Given the description of an element on the screen output the (x, y) to click on. 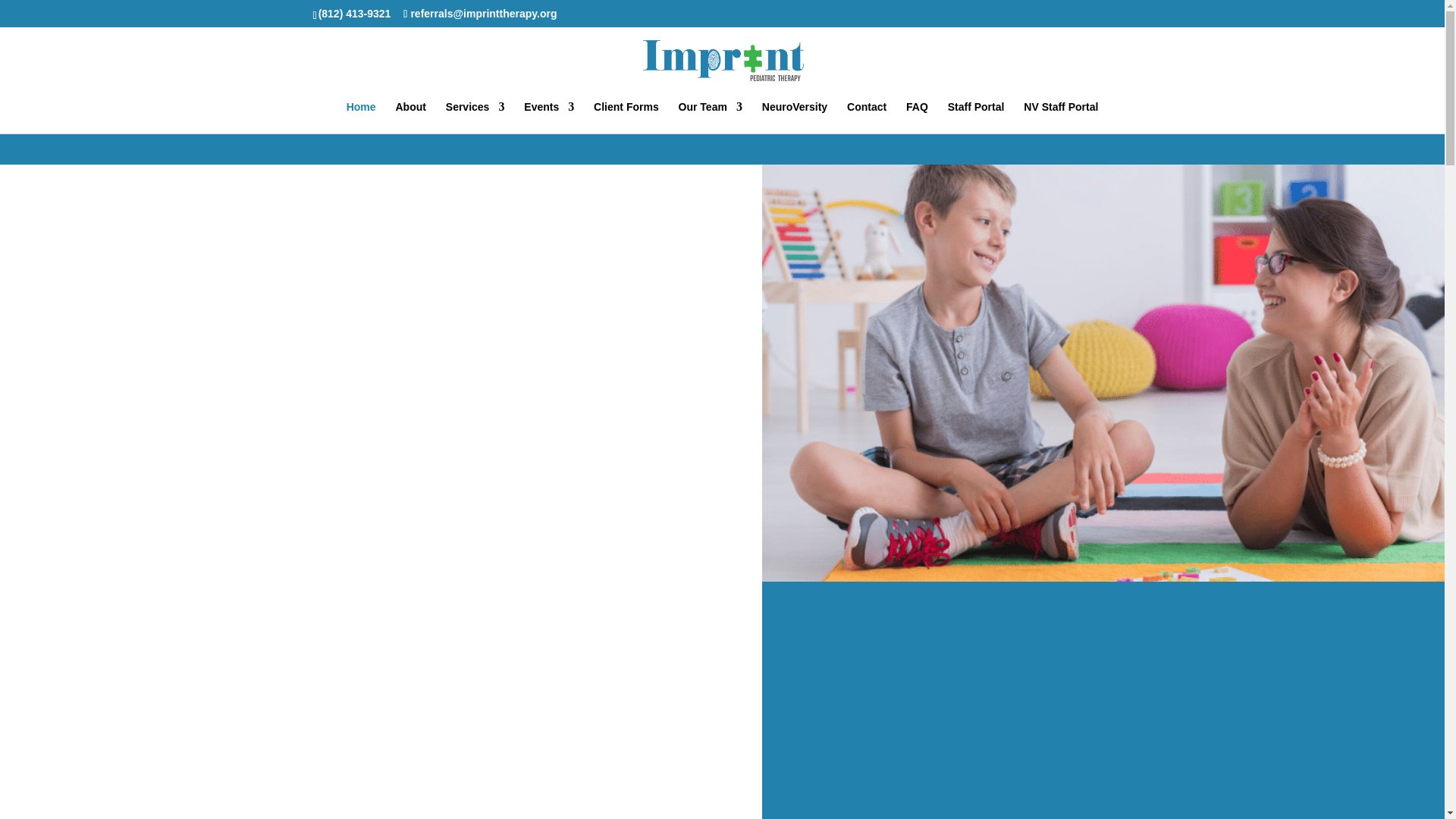
Home (360, 117)
Our Team (710, 117)
Contact (866, 117)
Events (548, 117)
About (409, 117)
Services (475, 117)
NV Staff Portal (1060, 117)
Staff Portal (975, 117)
Client Forms (626, 117)
NeuroVersity (794, 117)
